Given the description of an element on the screen output the (x, y) to click on. 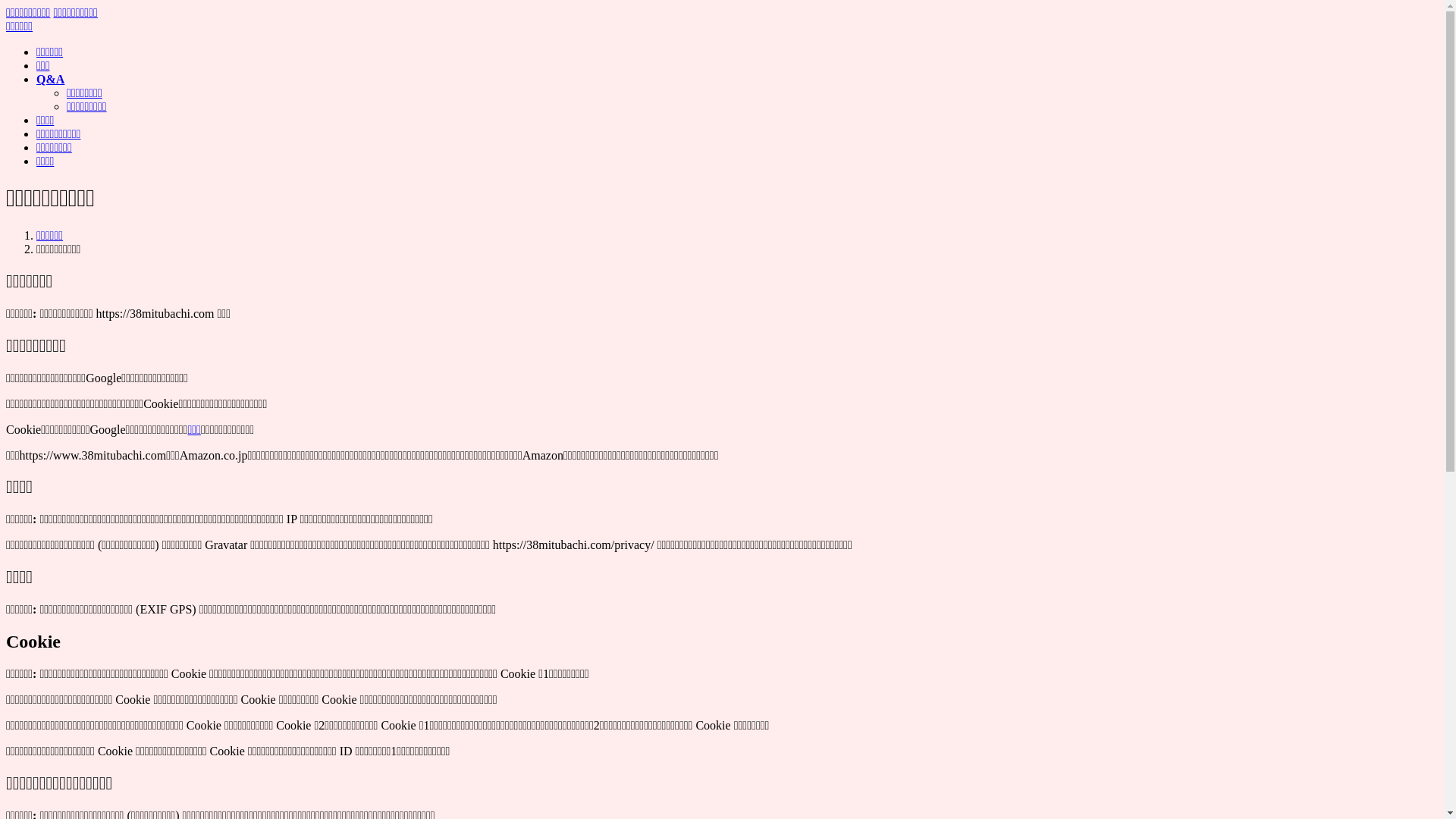
Q&A Element type: text (50, 78)
